Given the description of an element on the screen output the (x, y) to click on. 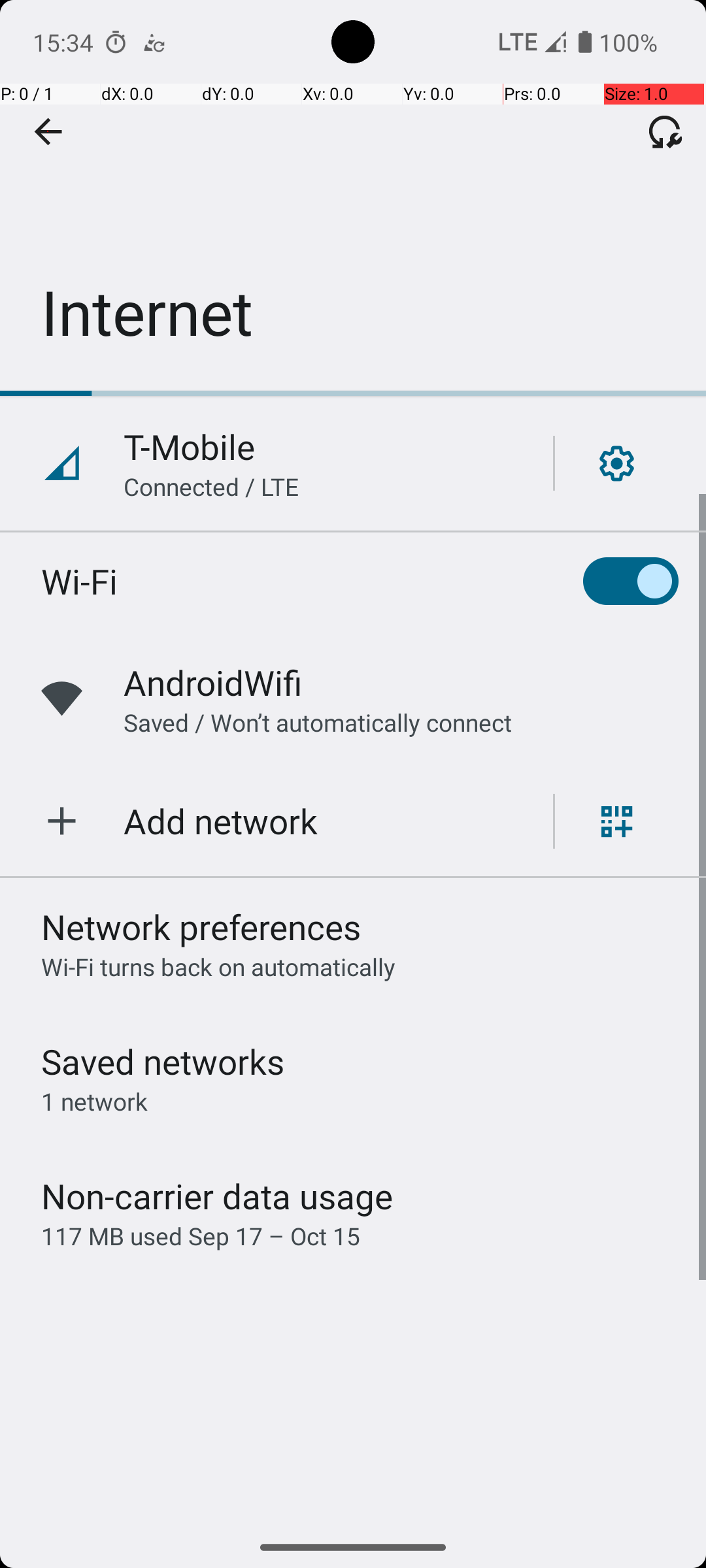
Fix connectivity Element type: android.widget.TextView (664, 131)
AndroidWifi,Saved / Won’t automatically connect,Wifi signal full.,Open network Element type: android.widget.LinearLayout (353, 698)
Connected / LTE Element type: android.widget.TextView (211, 486)
Wi-Fi Element type: android.widget.TextView (79, 580)
AndroidWifi Element type: android.widget.TextView (212, 682)
Saved / Won’t automatically connect Element type: android.widget.TextView (317, 721)
Add network Element type: android.widget.TextView (220, 820)
Scan QR code Element type: android.widget.ImageButton (616, 821)
Network preferences Element type: android.widget.TextView (201, 926)
Wi‑Fi turns back on automatically Element type: android.widget.TextView (218, 966)
Saved networks Element type: android.widget.TextView (163, 1061)
1 network Element type: android.widget.TextView (94, 1100)
Non-carrier data usage Element type: android.widget.TextView (216, 1195)
117 MB used Sep 17 – Oct 15 Element type: android.widget.TextView (200, 1235)
